Given the description of an element on the screen output the (x, y) to click on. 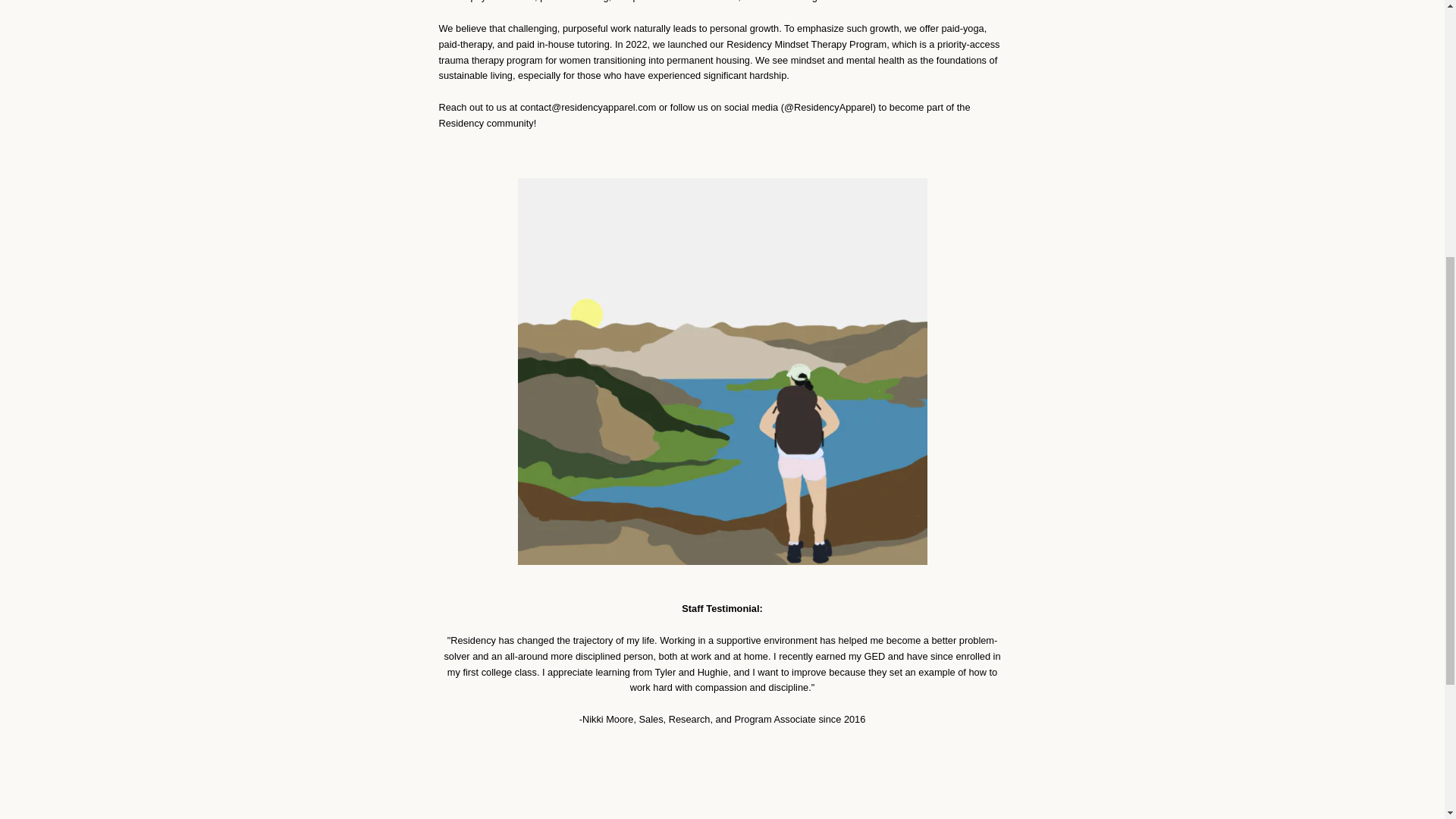
Powered by Shopify (774, 295)
Mastercard (918, 307)
PayPal (953, 307)
Visa (1057, 307)
Meta Pay (1022, 284)
SUBSCRIBE (1035, 210)
Diners Club (953, 284)
Venmo (1022, 307)
Discover (988, 284)
Apple Pay (918, 284)
American Express (883, 284)
Pinterest (372, 294)
Google Pay (1057, 284)
Residency on Instagram (398, 294)
Shop Pay (988, 307)
